Given the description of an element on the screen output the (x, y) to click on. 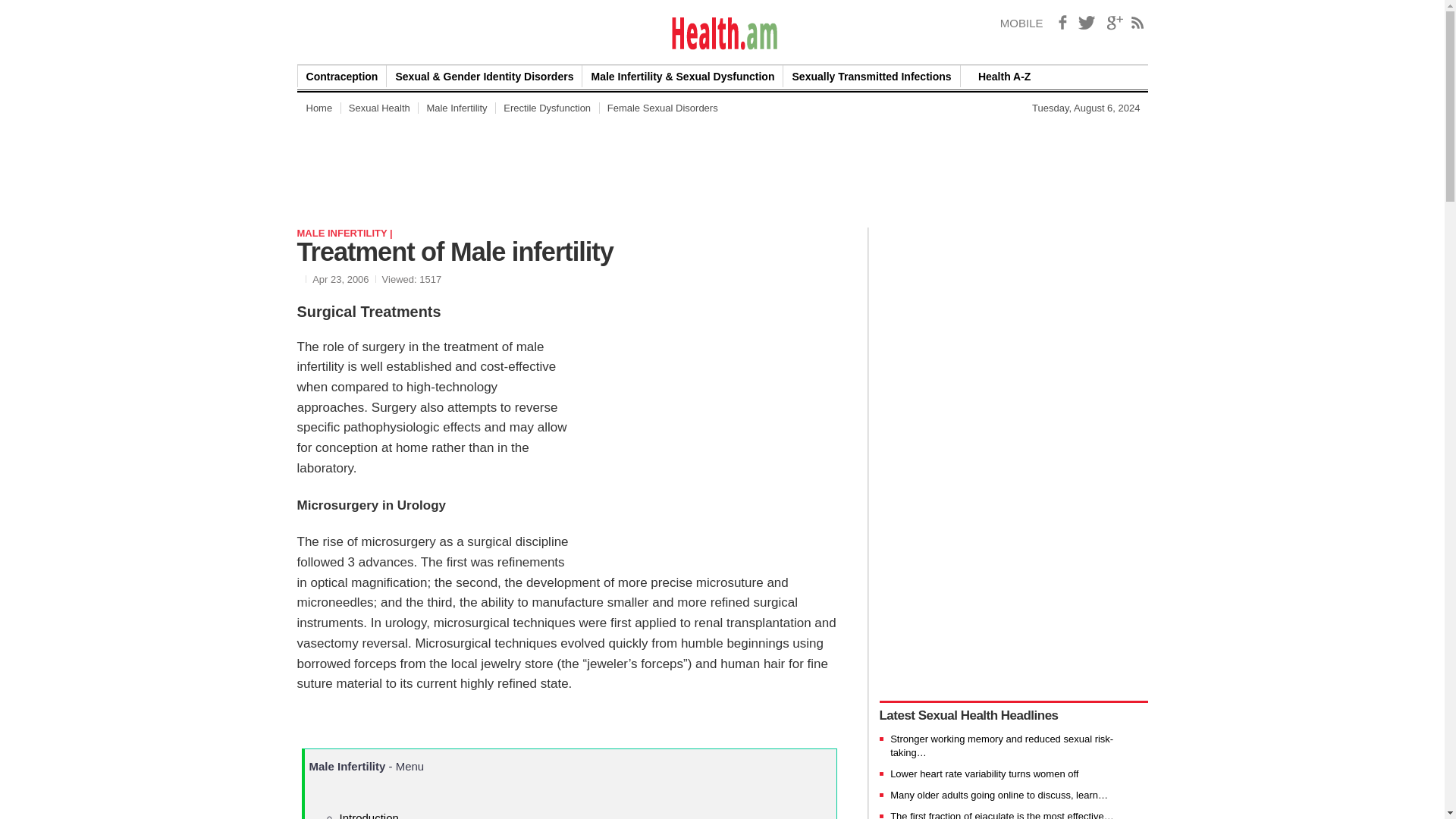
Rss Feeds (1137, 22)
Lower heart rate variability turns women off (983, 773)
Advertisement (717, 435)
Home (318, 107)
Female Sexual Disorders (662, 107)
Advertisement (950, 162)
Contraception (341, 76)
Many older adults going online to discuss, learn about sex (998, 794)
Advertisement (572, 162)
Sexual Health Center (378, 107)
View all posts in Male Infertility (345, 233)
health.am (722, 33)
Advertisement (724, 785)
